Given the description of an element on the screen output the (x, y) to click on. 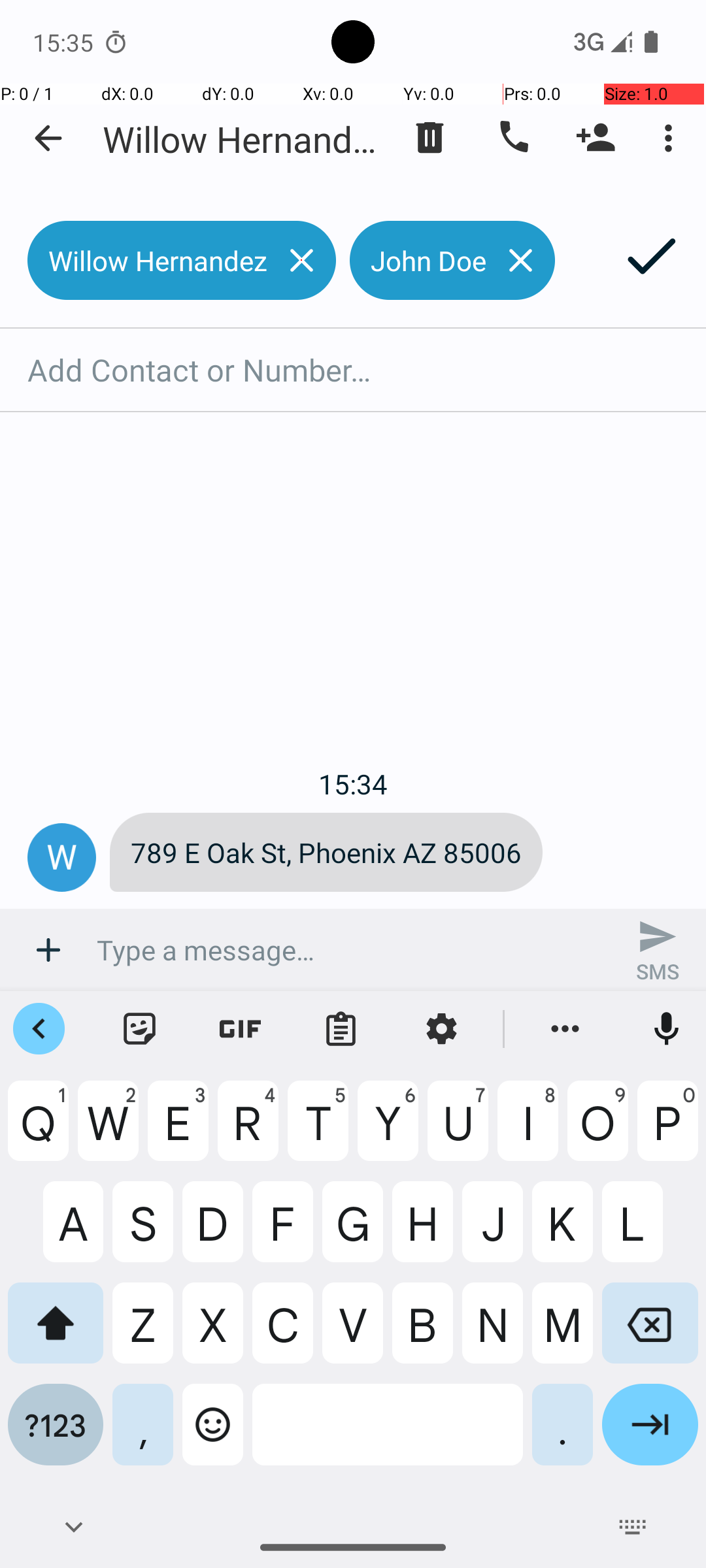
Willow Hernandez Element type: android.widget.TextView (241, 138)
John Doe Element type: android.widget.TextView (417, 259)
789 E Oak St, Phoenix AZ 85006 Element type: android.widget.TextView (325, 851)
